Given the description of an element on the screen output the (x, y) to click on. 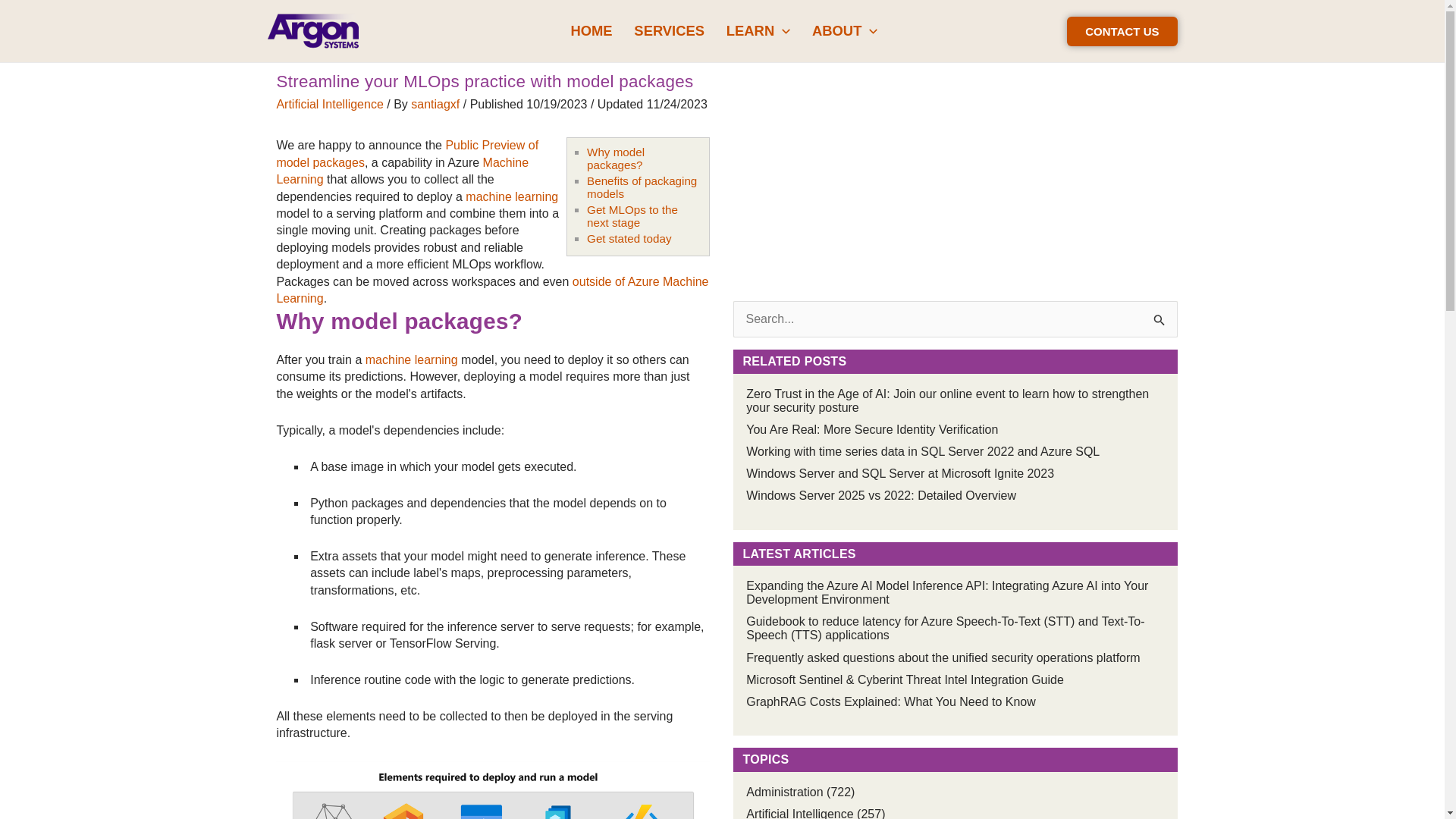
Why model packages? (615, 158)
machine learning (511, 196)
Machine Learning (402, 170)
Find articles tagged with Machine Learning (402, 170)
outside of Azure Machine Learning (491, 289)
machine learning (411, 359)
santiagxf (436, 103)
ABOUT (844, 30)
Benefits of packaging models (641, 186)
LEARN (758, 30)
